Given the description of an element on the screen output the (x, y) to click on. 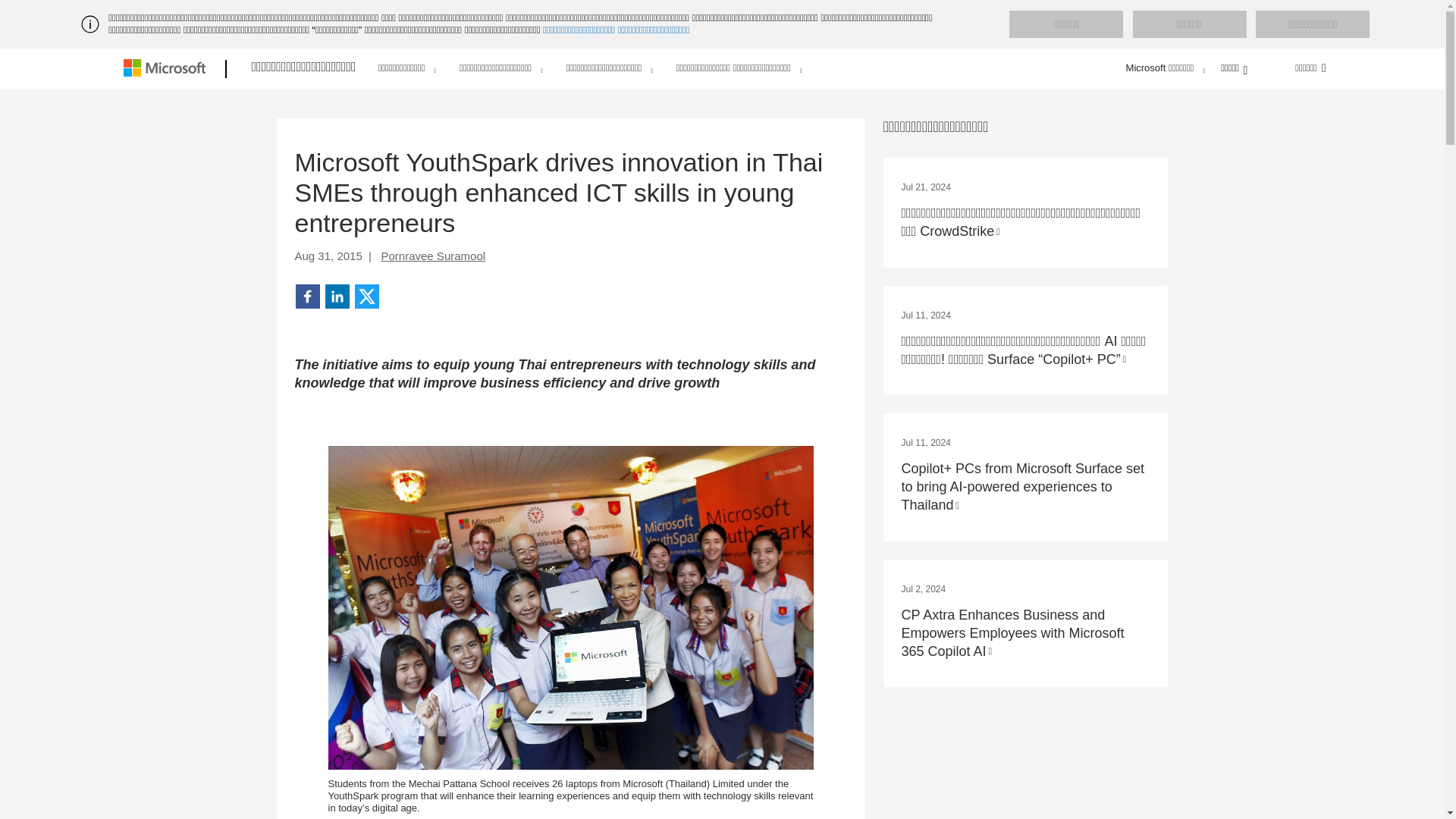
July 11, 2024 (925, 315)
August 31, 2015 (329, 255)
July 2, 2024 (922, 588)
July 21, 2024 (925, 186)
July 11, 2024 (925, 442)
Microsoft (167, 69)
